Given the description of an element on the screen output the (x, y) to click on. 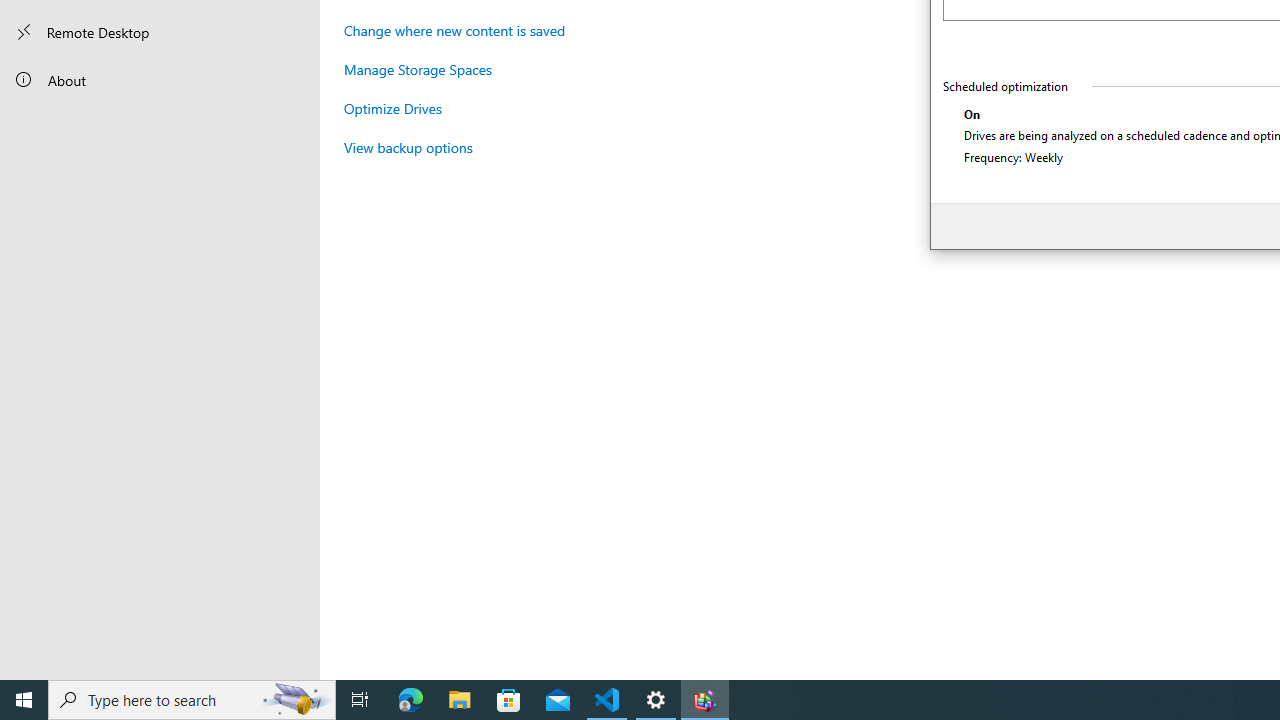
Visual Studio Code - 1 running window (607, 699)
Settings - 1 running window (656, 699)
File Explorer (460, 699)
Task View (359, 699)
Type here to search (191, 699)
Microsoft Edge (411, 699)
Microsoft Store (509, 699)
Start (24, 699)
Defragment and Optimize Drives - 1 running window (704, 699)
Search highlights icon opens search home window (295, 699)
